Given the description of an element on the screen output the (x, y) to click on. 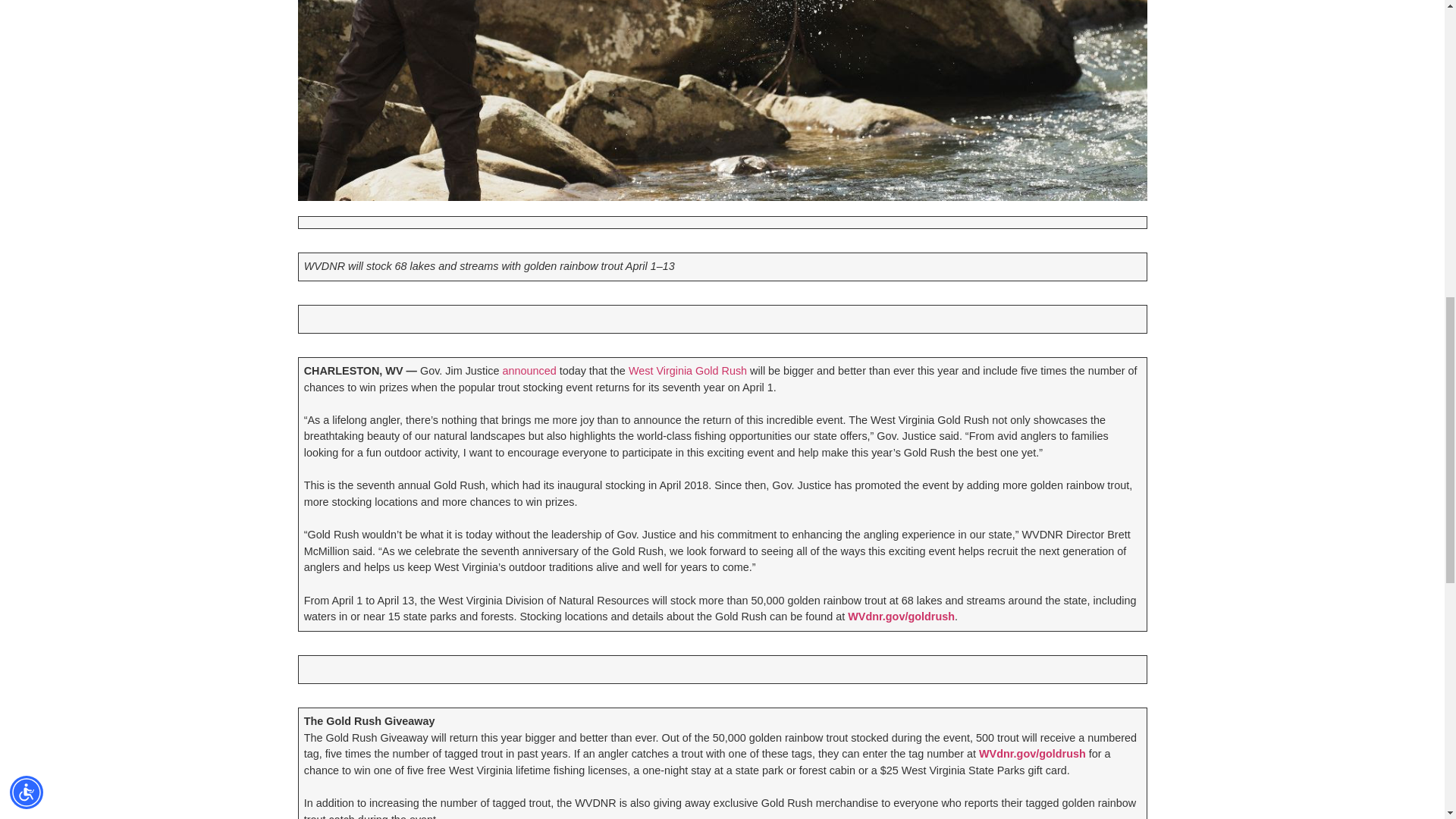
announced (529, 370)
West Virginia Gold Rush (687, 370)
